Given the description of an element on the screen output the (x, y) to click on. 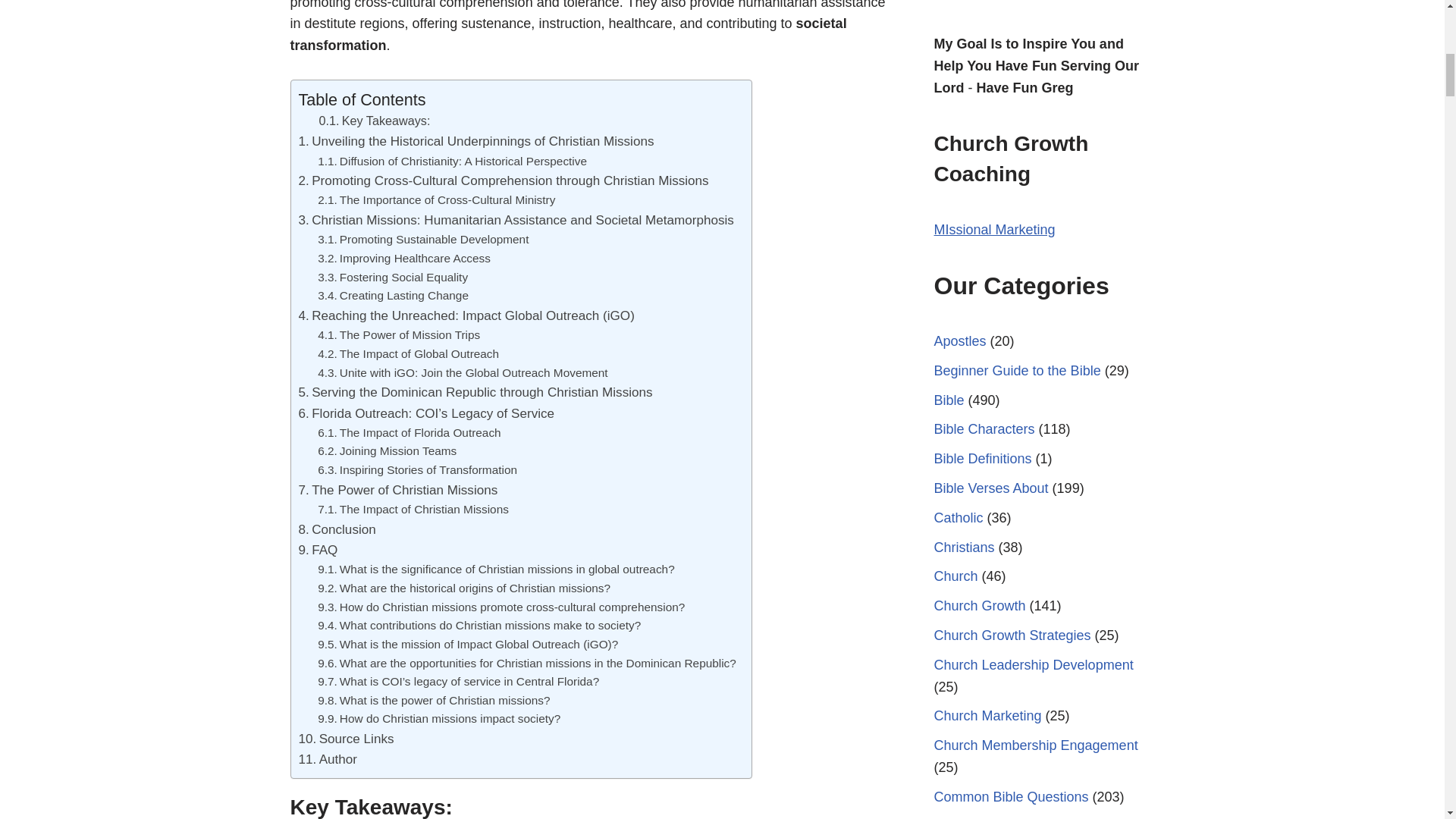
Fostering Social Equality (392, 277)
Key Takeaways: (373, 121)
The Importance of Cross-Cultural Ministry (435, 199)
The Power of Mission Trips (398, 334)
Improving Healthcare Access (403, 258)
Creating Lasting Change (392, 295)
Promoting Sustainable Development (422, 239)
Unveiling the Historical Underpinnings of Christian Missions (475, 141)
